Given the description of an element on the screen output the (x, y) to click on. 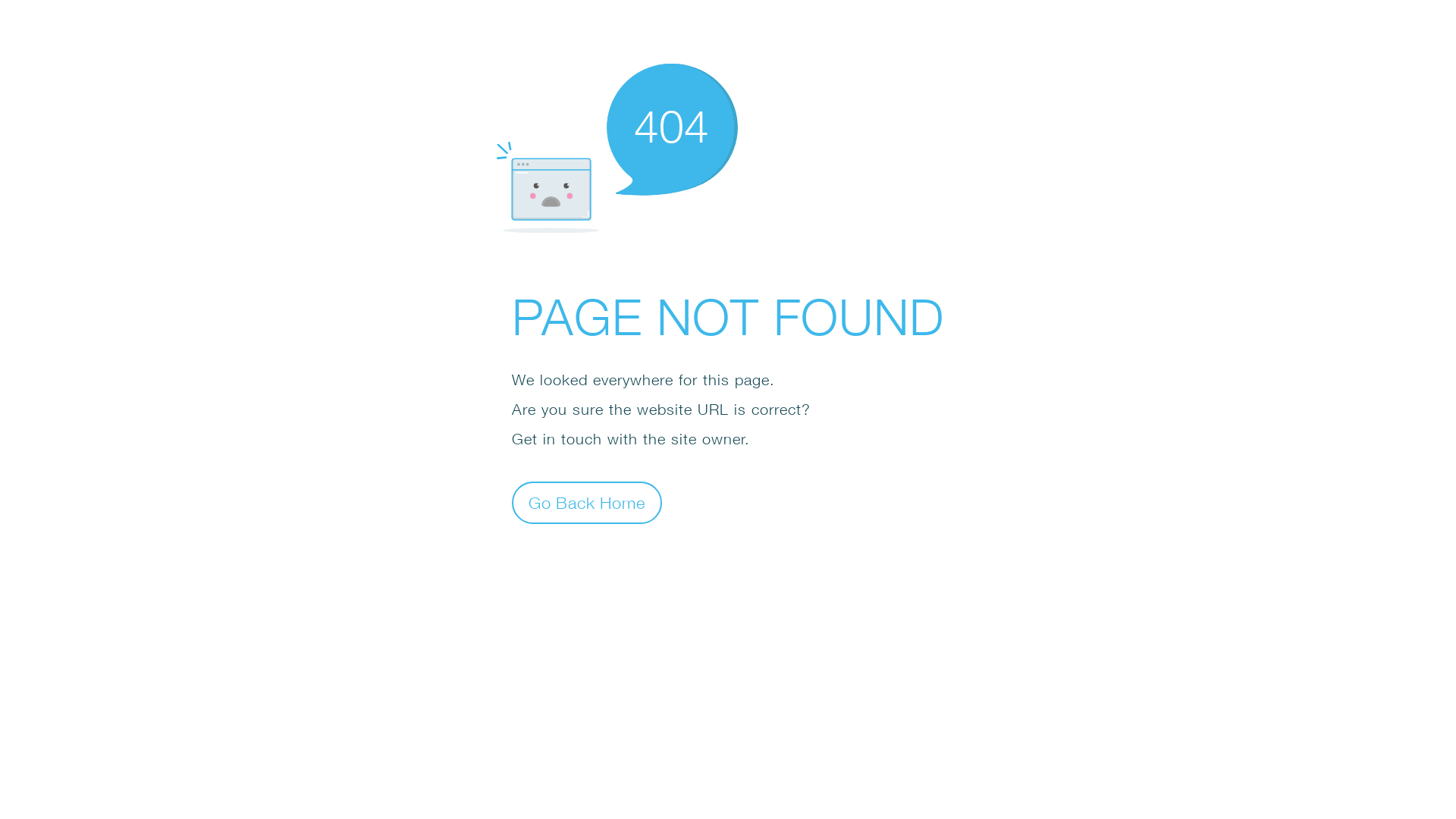
Go Back Home Element type: text (586, 502)
